Given the description of an element on the screen output the (x, y) to click on. 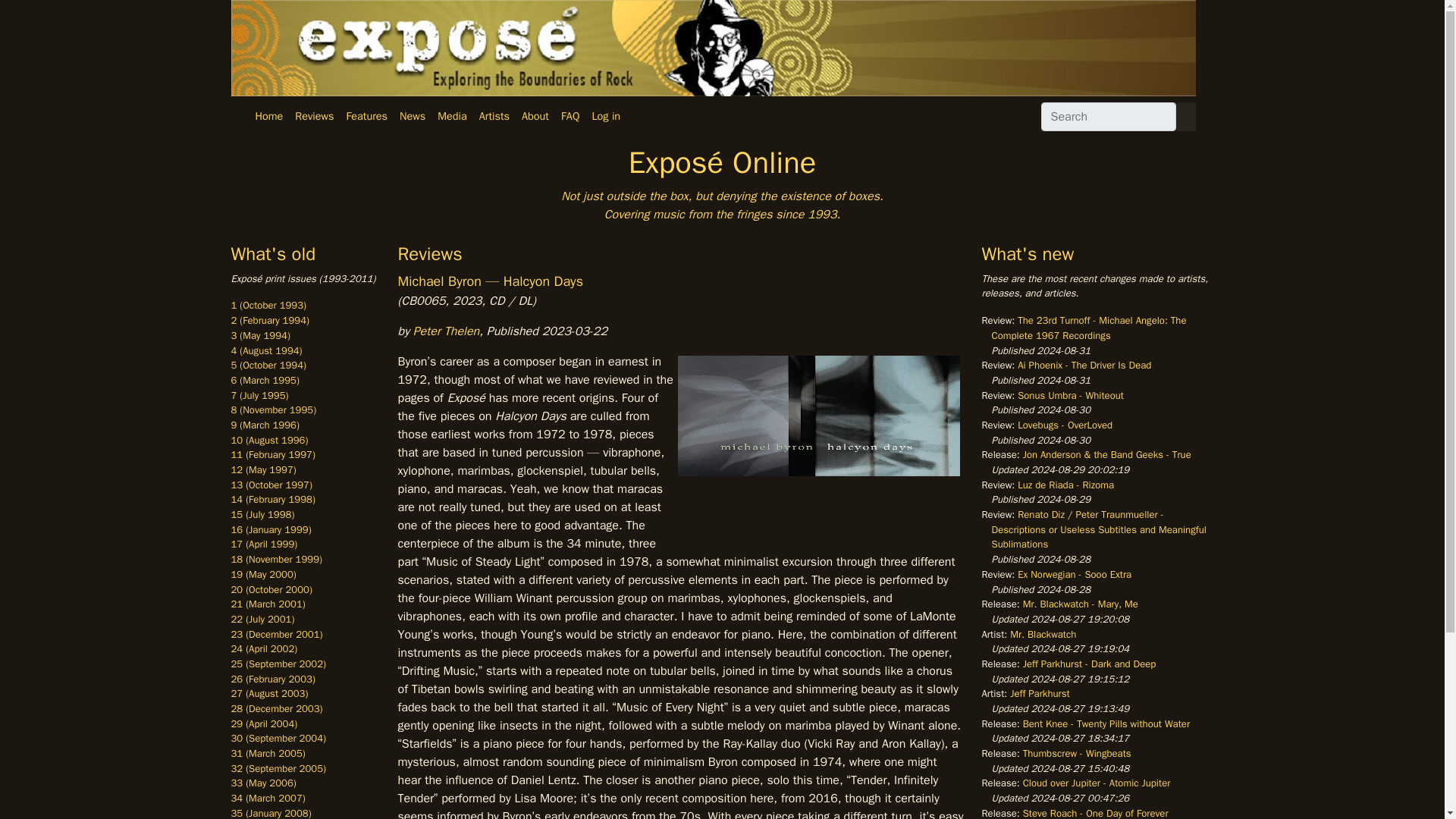
Features (366, 116)
About (534, 116)
Log in (605, 116)
Home (268, 116)
Halcyon Days Cover art (819, 450)
Artists (494, 116)
FAQ (569, 116)
News (411, 116)
Media (451, 116)
Reviews (313, 116)
